Given the description of an element on the screen output the (x, y) to click on. 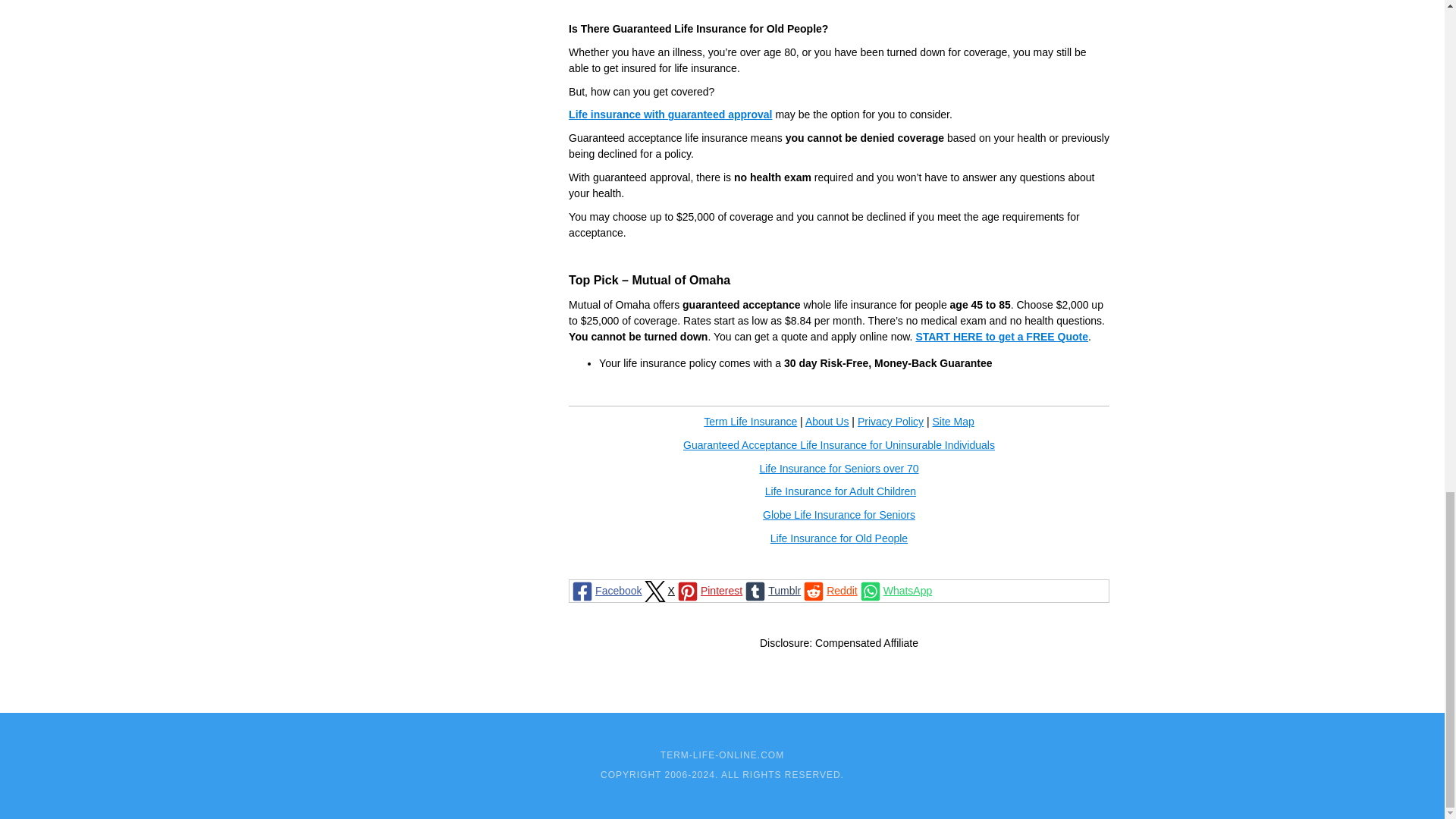
Tumblr (771, 590)
START HERE to get a FREE Quote (1001, 336)
Site Map (952, 421)
Reddit (828, 590)
Term Life Insurance (749, 421)
X (658, 590)
Life Insurance for Seniors over 70 (838, 468)
Globe Life Insurance for Seniors (838, 514)
Privacy Policy (890, 421)
Pinterest (708, 590)
WhatsApp (895, 590)
Facebook (605, 590)
Life Insurance for Old People (838, 538)
Life Insurance for Adult Children (840, 491)
